Given the description of an element on the screen output the (x, y) to click on. 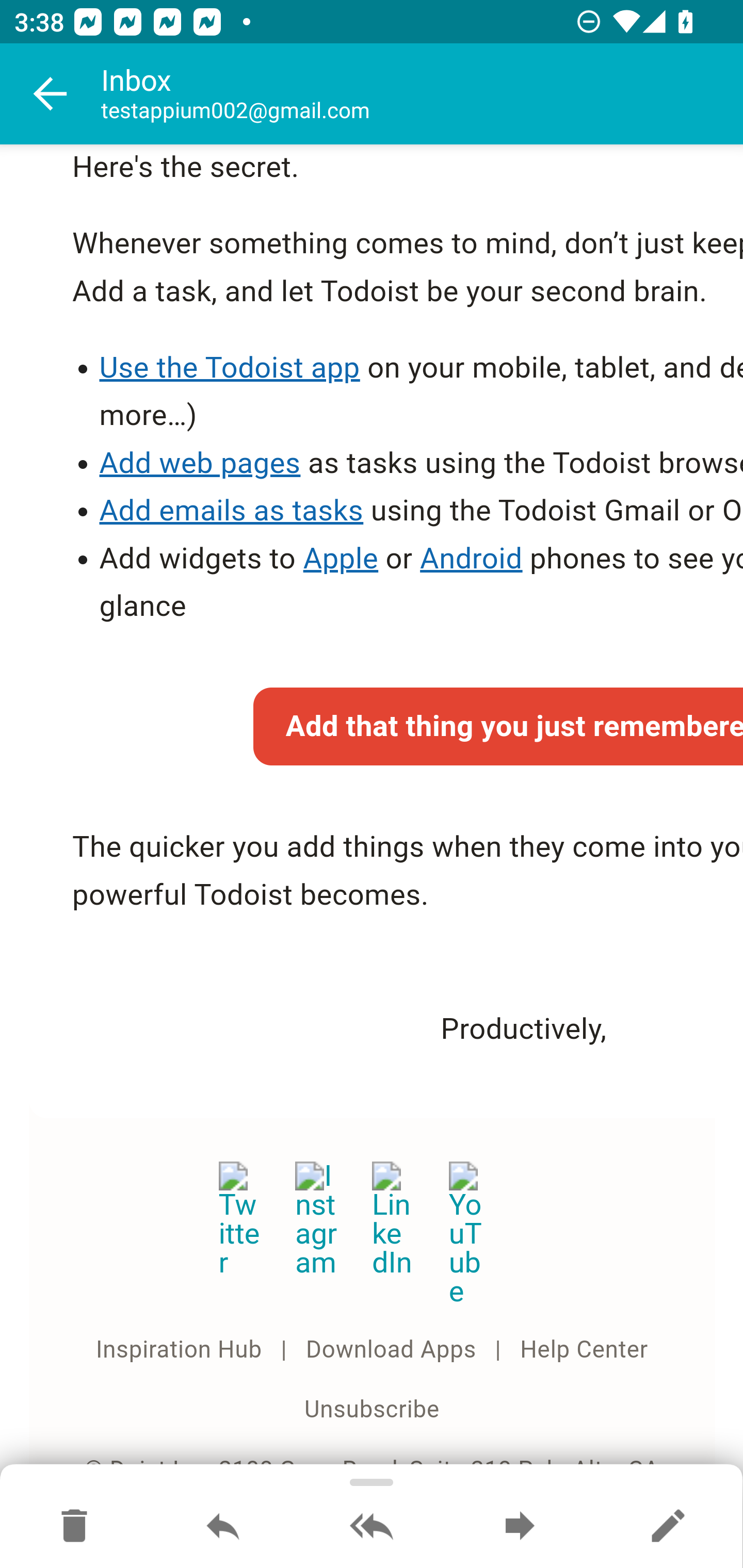
Navigate up (50, 93)
Inbox testappium002@gmail.com (422, 93)
Use the Todoist app (229, 367)
Add web pages (199, 463)
Add emails as tasks (230, 511)
Apple (339, 558)
Android (471, 558)
Add that thing you just remembered (497, 726)
Instagram (316, 1219)
Twitter (239, 1220)
LinkedIn (394, 1220)
YouTube (470, 1235)
Inspiration Hub (178, 1349)
Download Apps (390, 1349)
Help Center (585, 1349)
Unsubscribe (371, 1411)
Move to Deleted (74, 1527)
Reply (222, 1527)
Reply all (371, 1527)
Forward (519, 1527)
Reply as new (667, 1527)
